Given the description of an element on the screen output the (x, y) to click on. 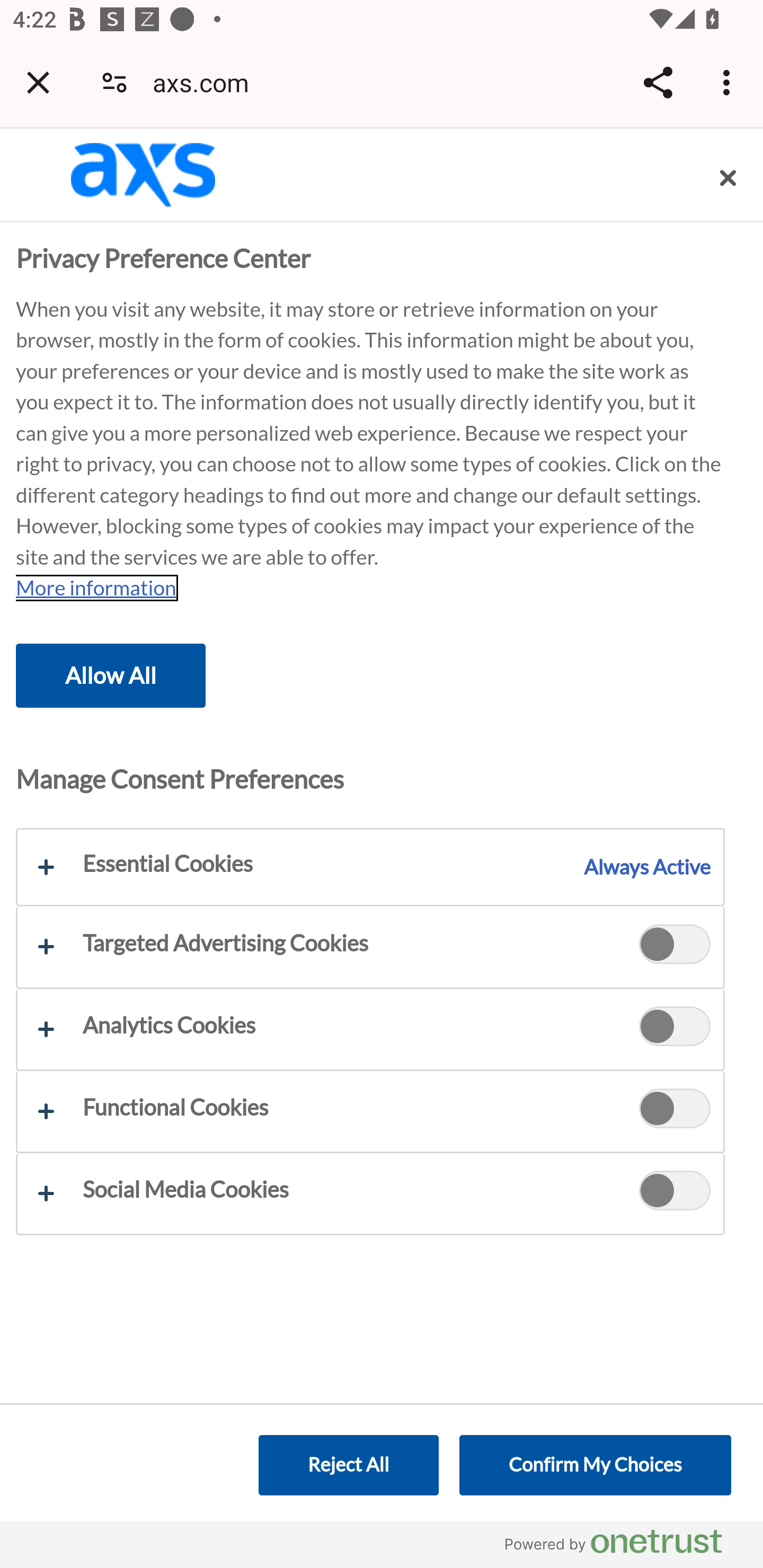
Close tab (38, 82)
Share (657, 82)
Customize and control Google Chrome (729, 82)
Connection is secure (114, 81)
axs.com (206, 81)
Close (727, 177)
Allow All (111, 674)
Essential Cookies Always Active (370, 867)
Targeted Advertising Cookies (370, 946)
Targeted Advertising Cookies (674, 946)
Analytics Cookies (370, 1028)
Analytics Cookies (674, 1029)
Functional Cookies (370, 1110)
Functional Cookies (674, 1111)
Social Media Cookies (370, 1193)
Social Media Cookies (674, 1192)
Reject All (347, 1464)
Confirm My Choices (593, 1464)
